Given the description of an element on the screen output the (x, y) to click on. 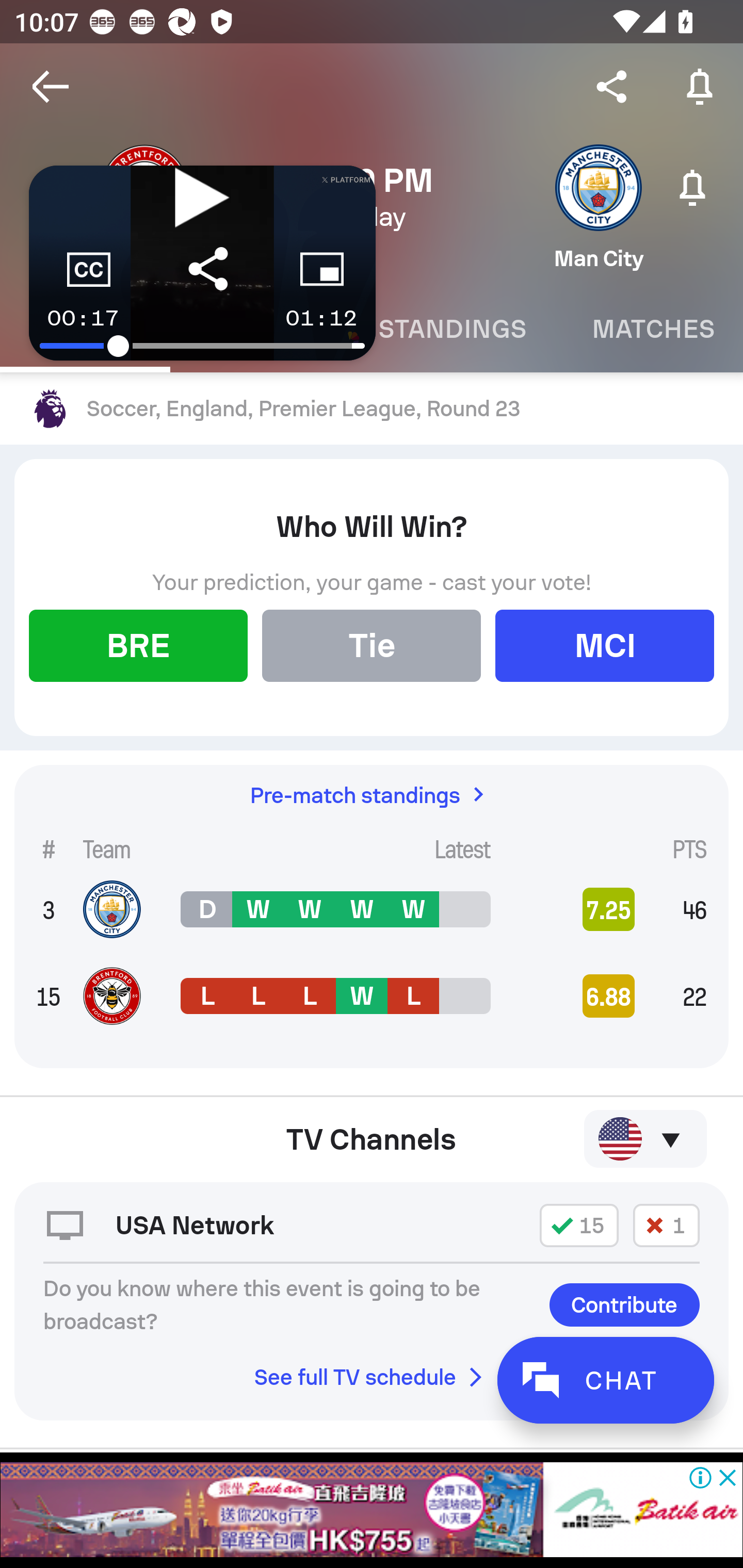
Navigate up (50, 86)
Standings STANDINGS (451, 329)
Matches MATCHES (650, 329)
Soccer, England, Premier League, Round 23 (371, 409)
BRE (137, 645)
Tie (371, 645)
MCI (604, 645)
15 (578, 1225)
1 (666, 1225)
Contribute (624, 1305)
CHAT (605, 1380)
See full TV schedule (371, 1377)
batik-air-x-hkia-promotion (371, 1509)
